Given the description of an element on the screen output the (x, y) to click on. 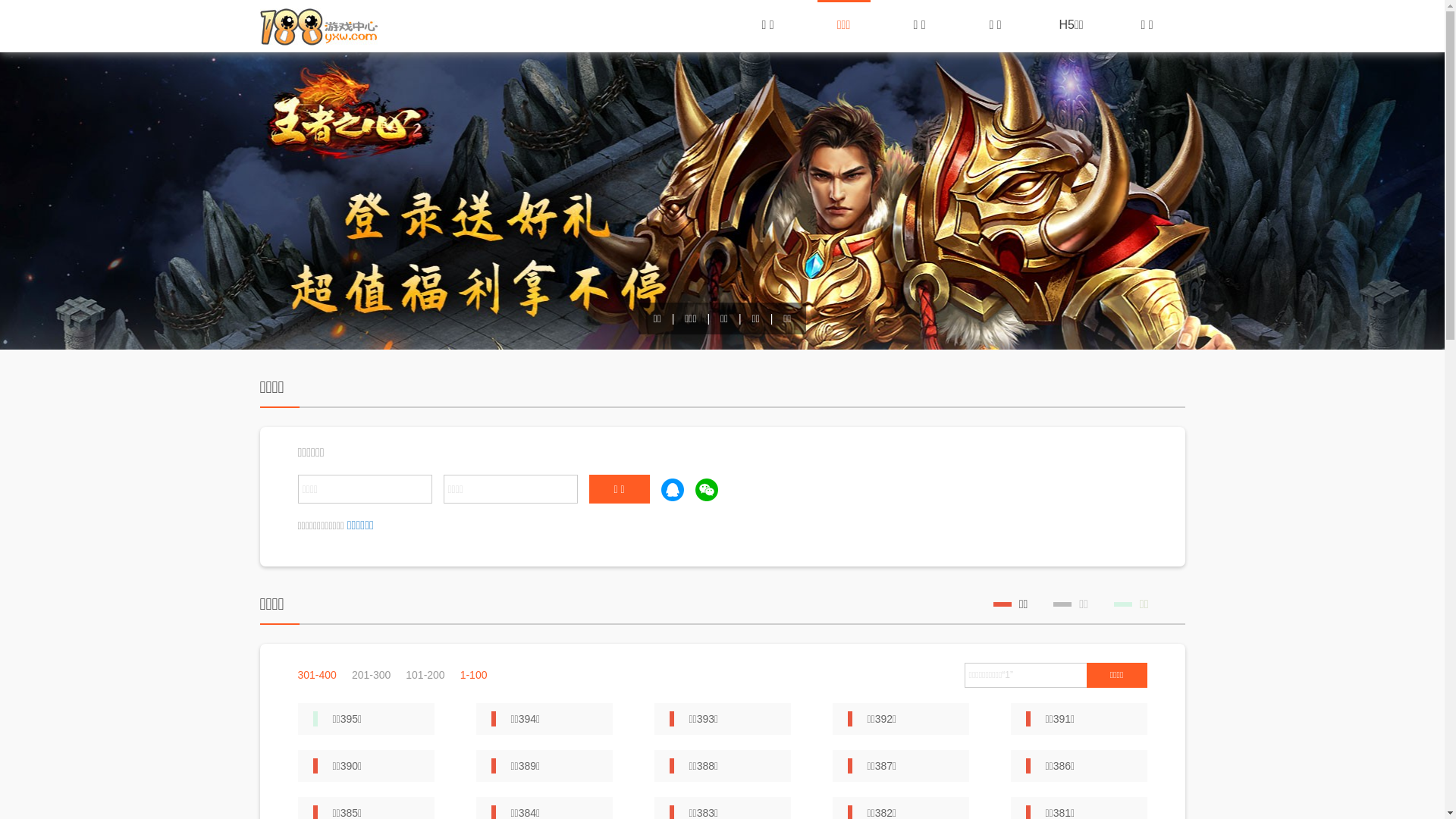
qq Element type: text (672, 489)
weixin Element type: text (705, 489)
